Given the description of an element on the screen output the (x, y) to click on. 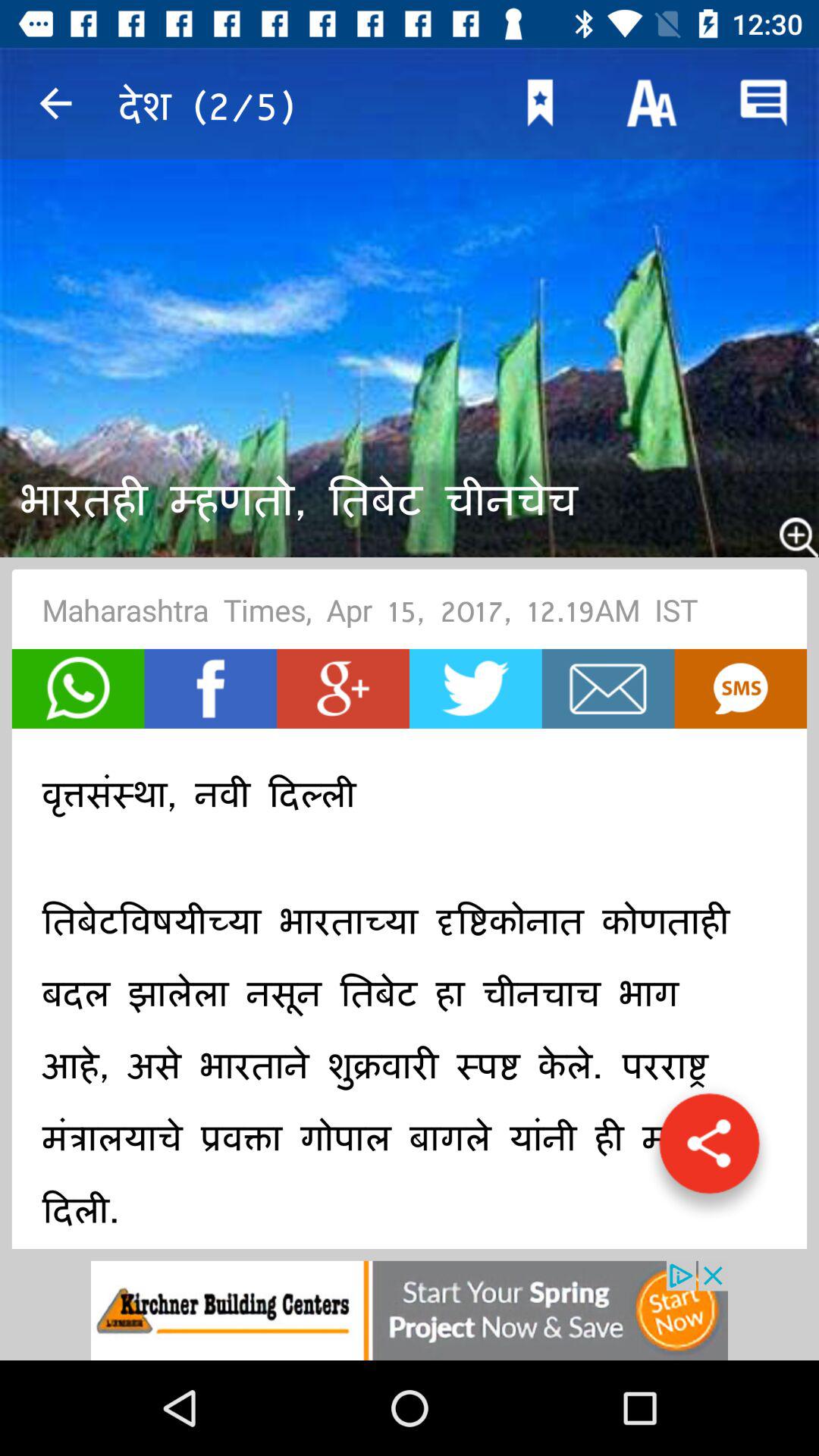
go to tweet option (475, 688)
